Given the description of an element on the screen output the (x, y) to click on. 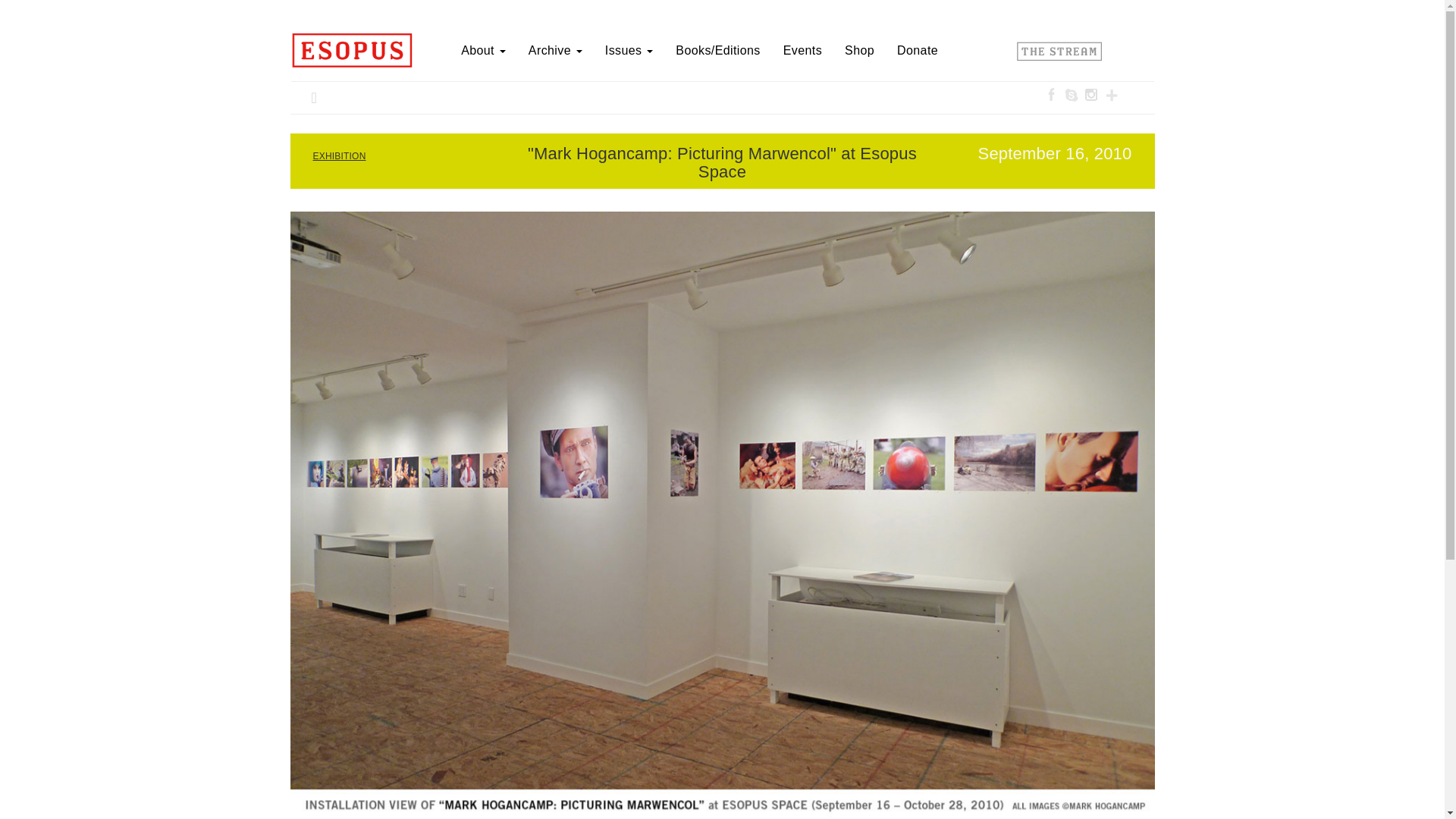
About (482, 49)
Archive (555, 49)
Issues (629, 49)
